Given the description of an element on the screen output the (x, y) to click on. 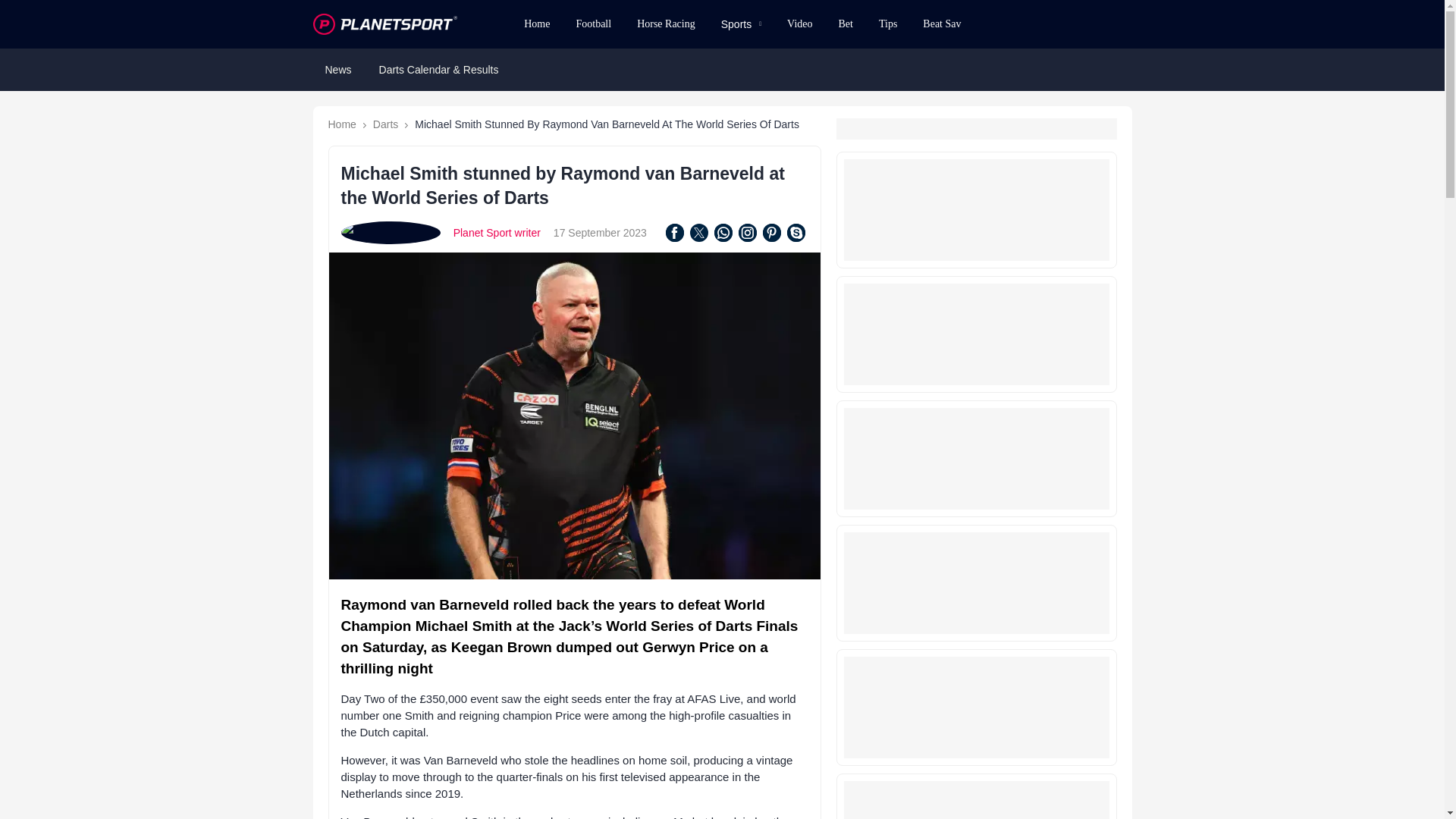
Planet Sport writer (496, 232)
Tips (888, 24)
Video (799, 24)
Darts (384, 123)
Football (593, 24)
Horse Racing (665, 24)
News (337, 69)
Home (341, 123)
Home (536, 24)
Beat Sav (942, 24)
